Given the description of an element on the screen output the (x, y) to click on. 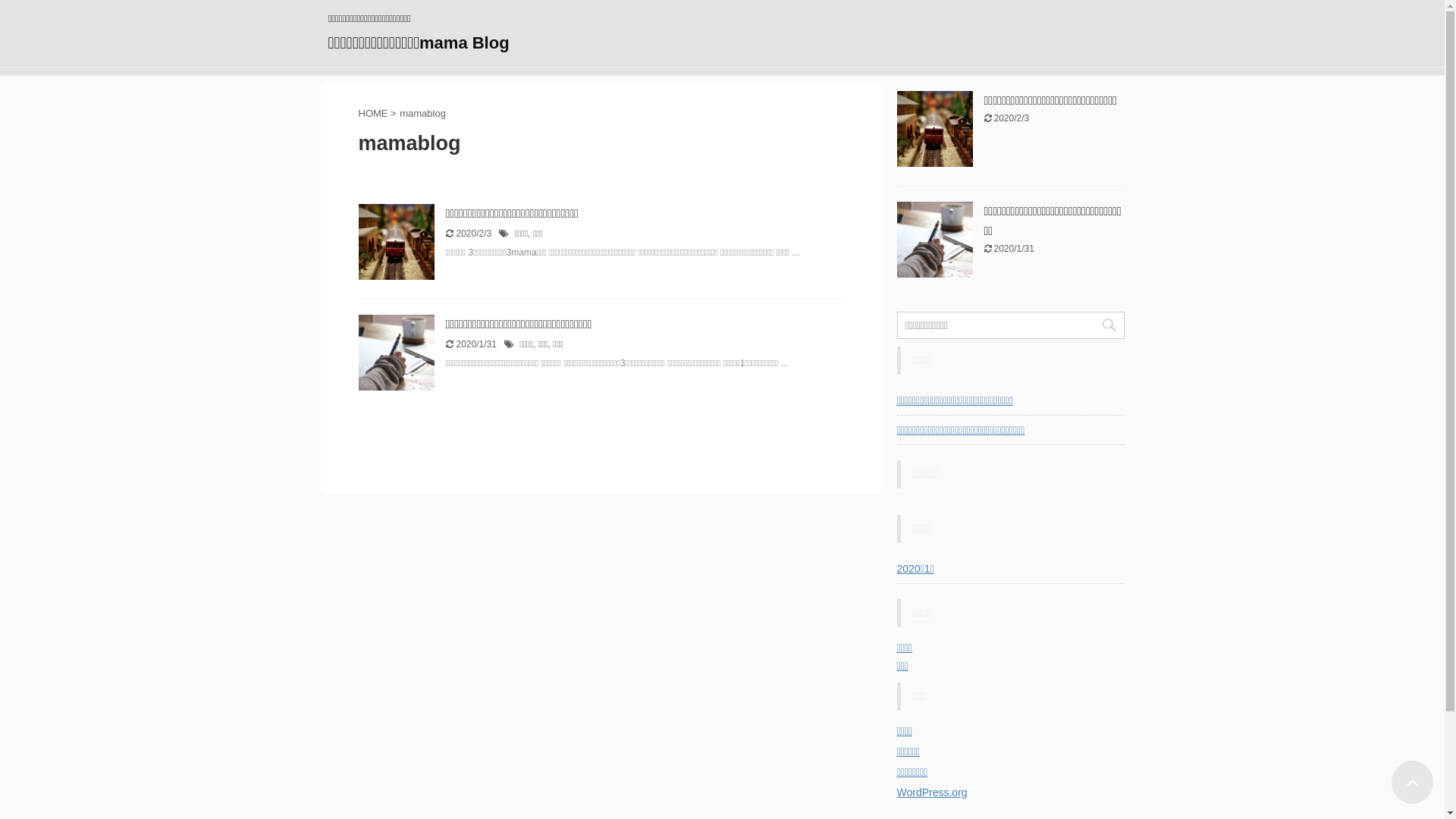
WordPress.org Element type: text (931, 791)
HOME Element type: text (372, 113)
